Given the description of an element on the screen output the (x, y) to click on. 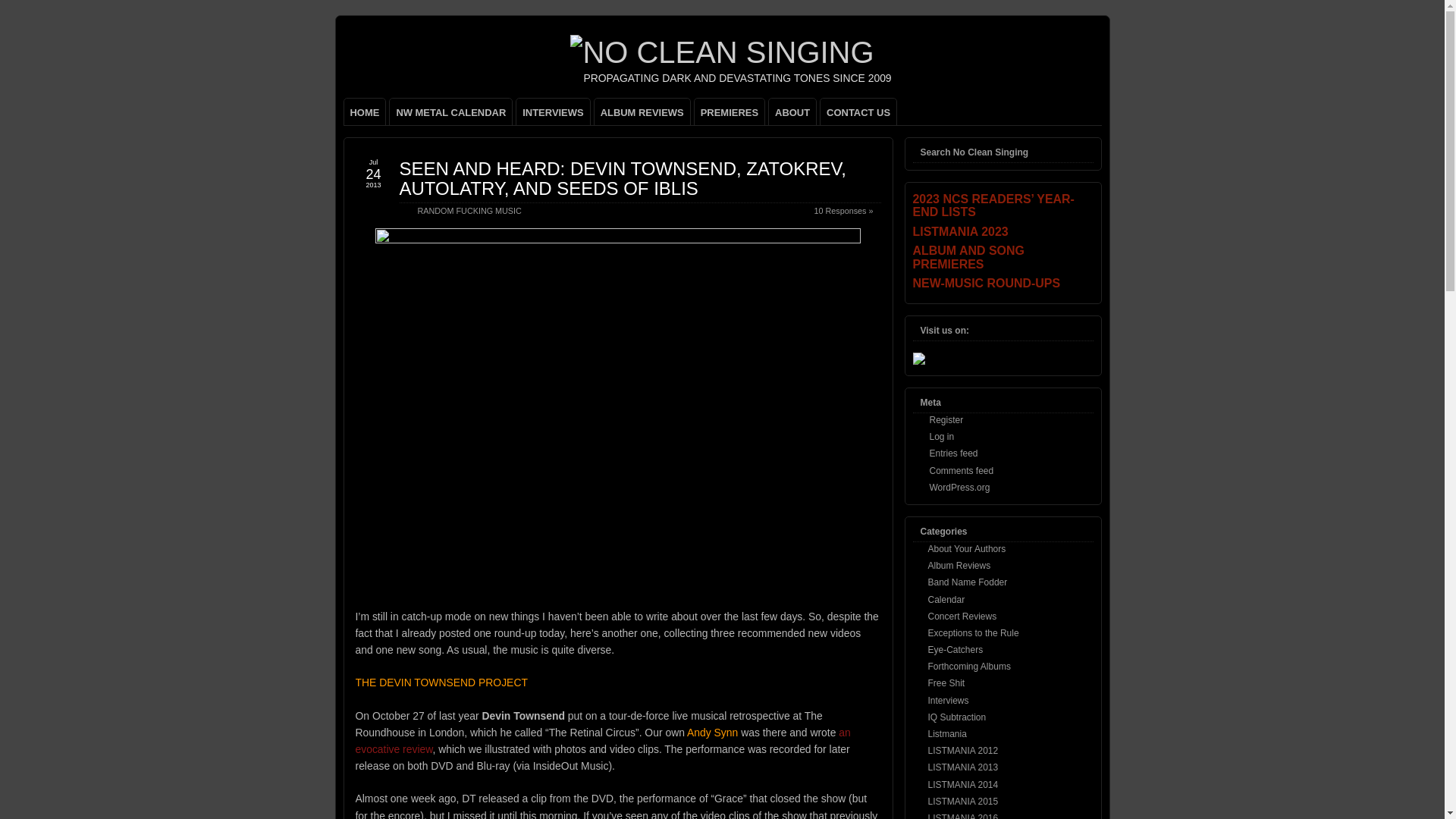
RANDOM FUCKING MUSIC (468, 210)
PREMIERES (729, 111)
LISTMANIA 2023 (1002, 232)
Interviews (948, 700)
HOME (364, 111)
Forthcoming Albums (969, 665)
Entries feed (954, 452)
Free Shit (946, 683)
Exceptions to the Rule (973, 633)
